Given the description of an element on the screen output the (x, y) to click on. 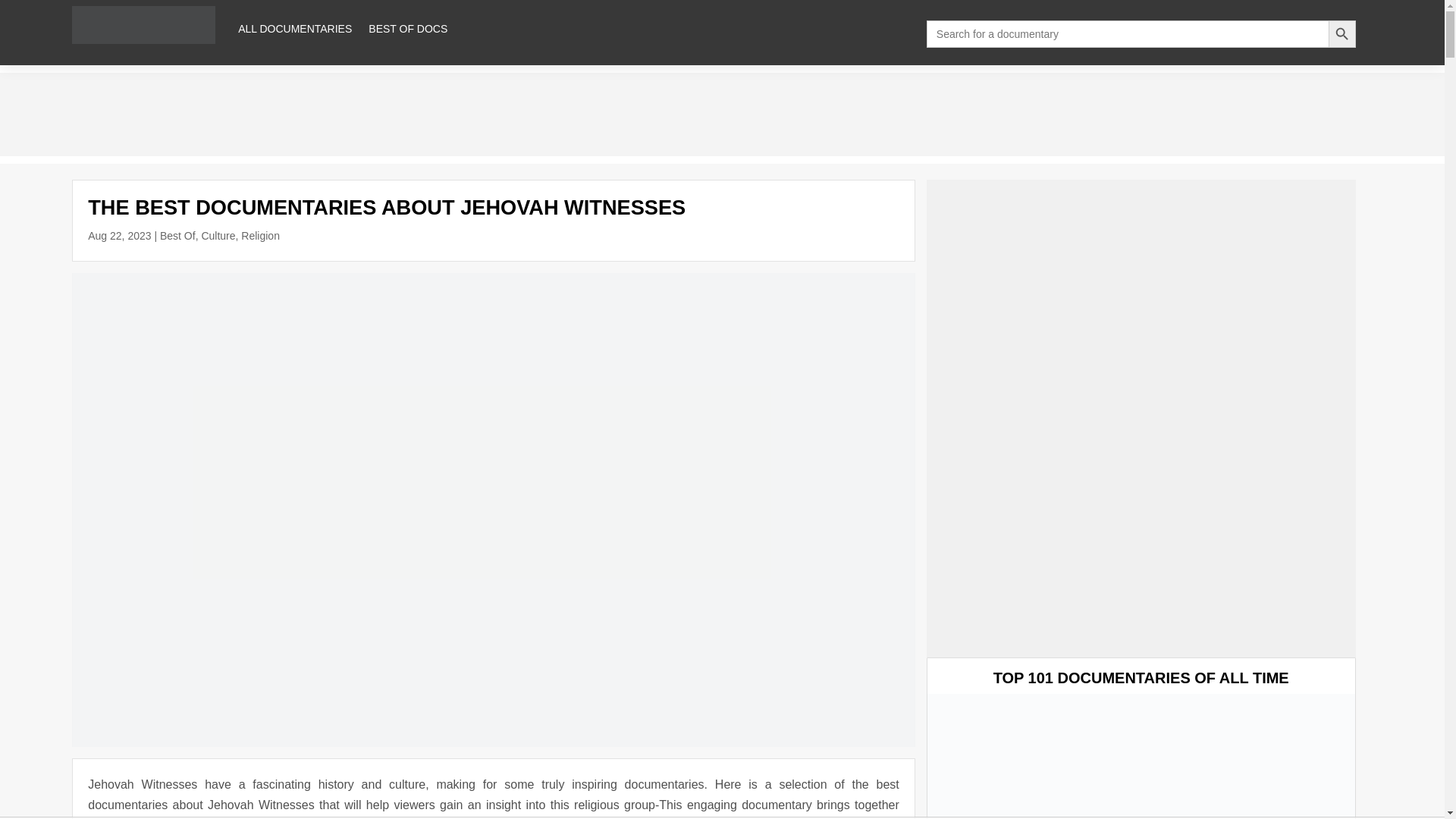
TOP 101 DOCUMENTARIES OF ALL TIME (1140, 677)
Culture (217, 235)
Religion (260, 235)
ALL DOCUMENTARIES (295, 28)
BEST OF DOCS (407, 28)
Best Of (177, 235)
Search Button (1341, 33)
